Given the description of an element on the screen output the (x, y) to click on. 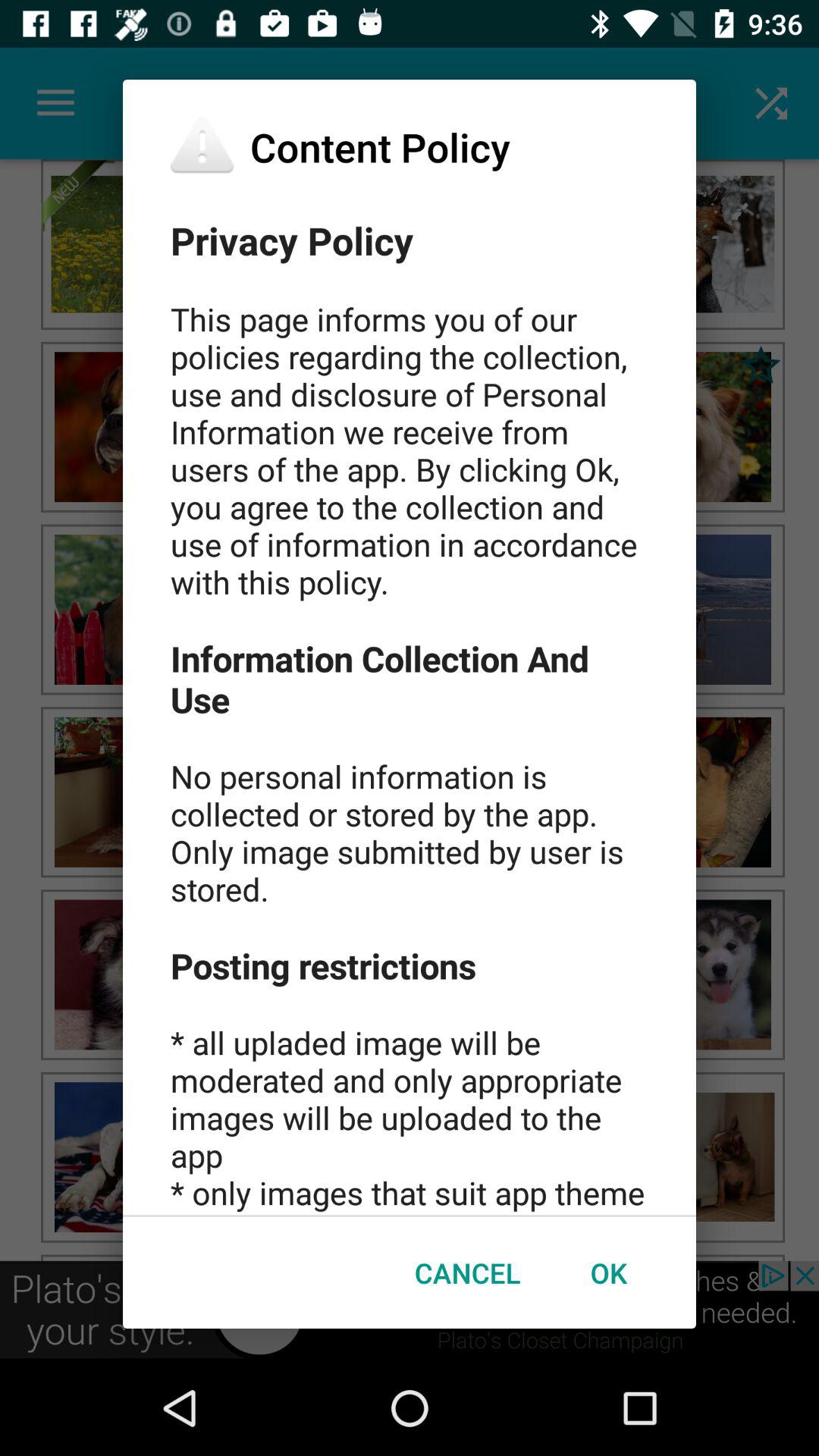
select the icon below privacy policy this item (467, 1272)
